Given the description of an element on the screen output the (x, y) to click on. 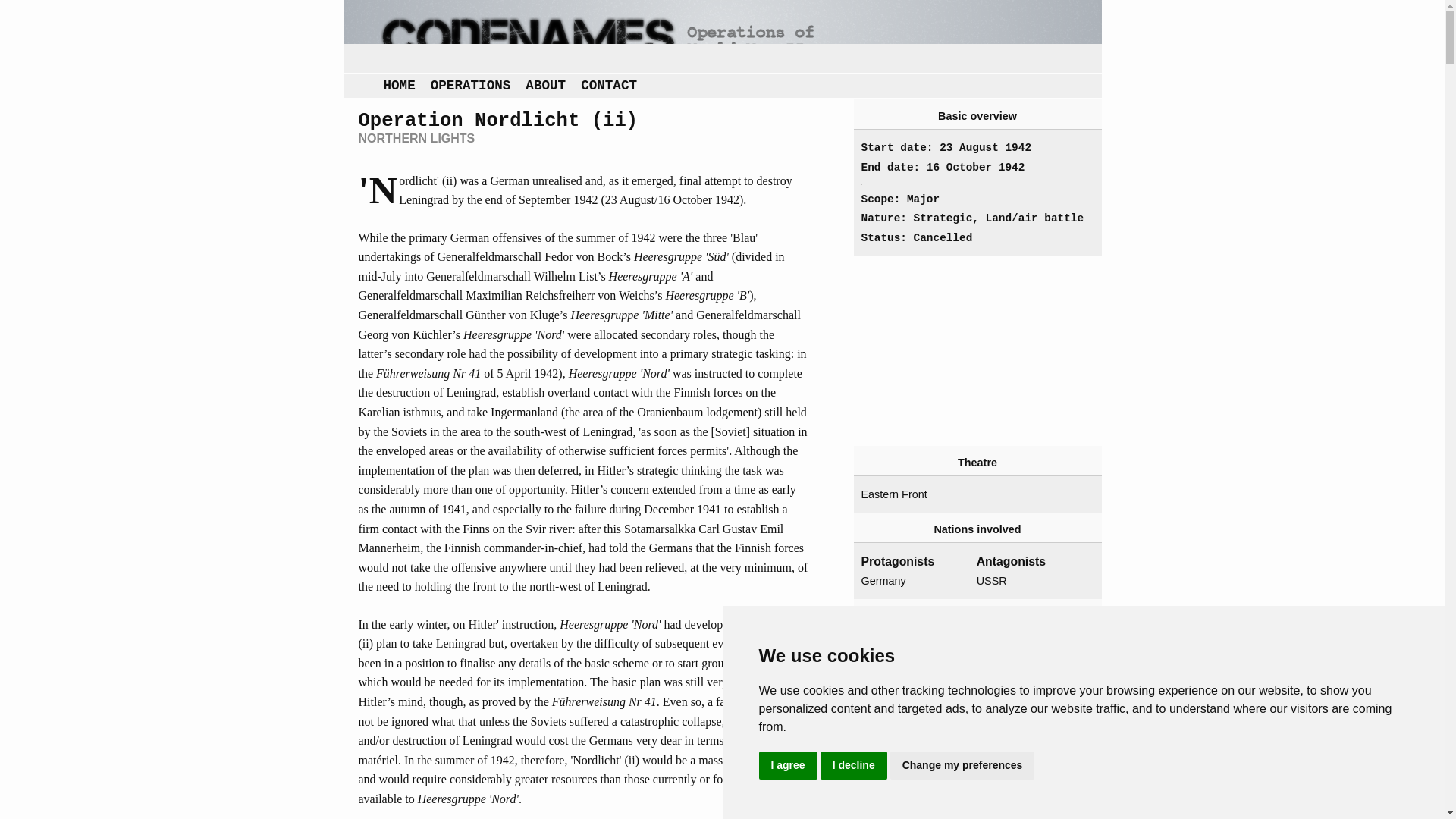
HOME (399, 86)
German 11th Army (913, 792)
ABOUT (545, 86)
Change my preferences (962, 765)
Lindemann, Georg (913, 668)
German 18th Army (913, 810)
von Manstein, Erich (913, 706)
Germany (913, 581)
CONTACT (609, 86)
Codenames of World War 2 (721, 36)
About Codenames (545, 86)
OPERATIONS (470, 86)
Govorov, Leonid A. (1028, 668)
Home (399, 86)
Contact (609, 86)
